Given the description of an element on the screen output the (x, y) to click on. 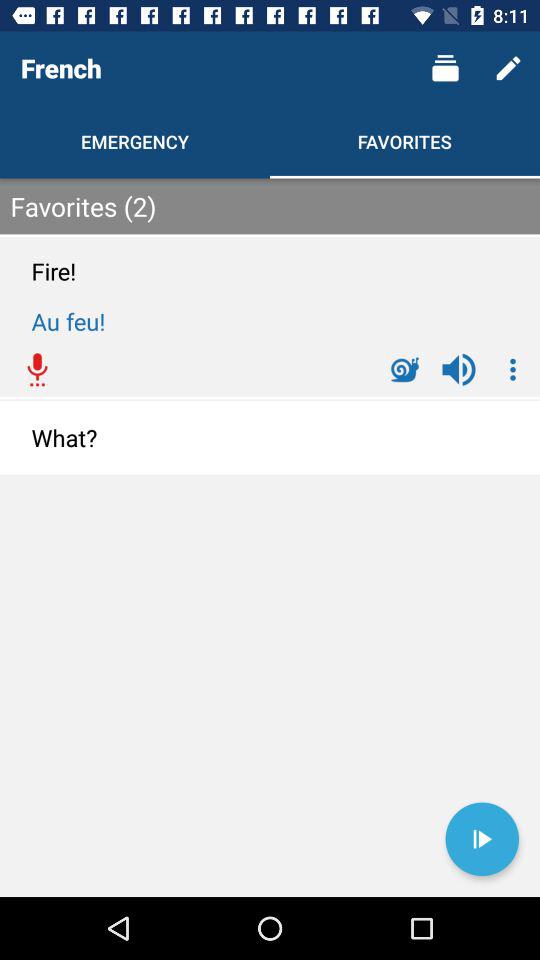
select item above favorites (2) (508, 67)
